Given the description of an element on the screen output the (x, y) to click on. 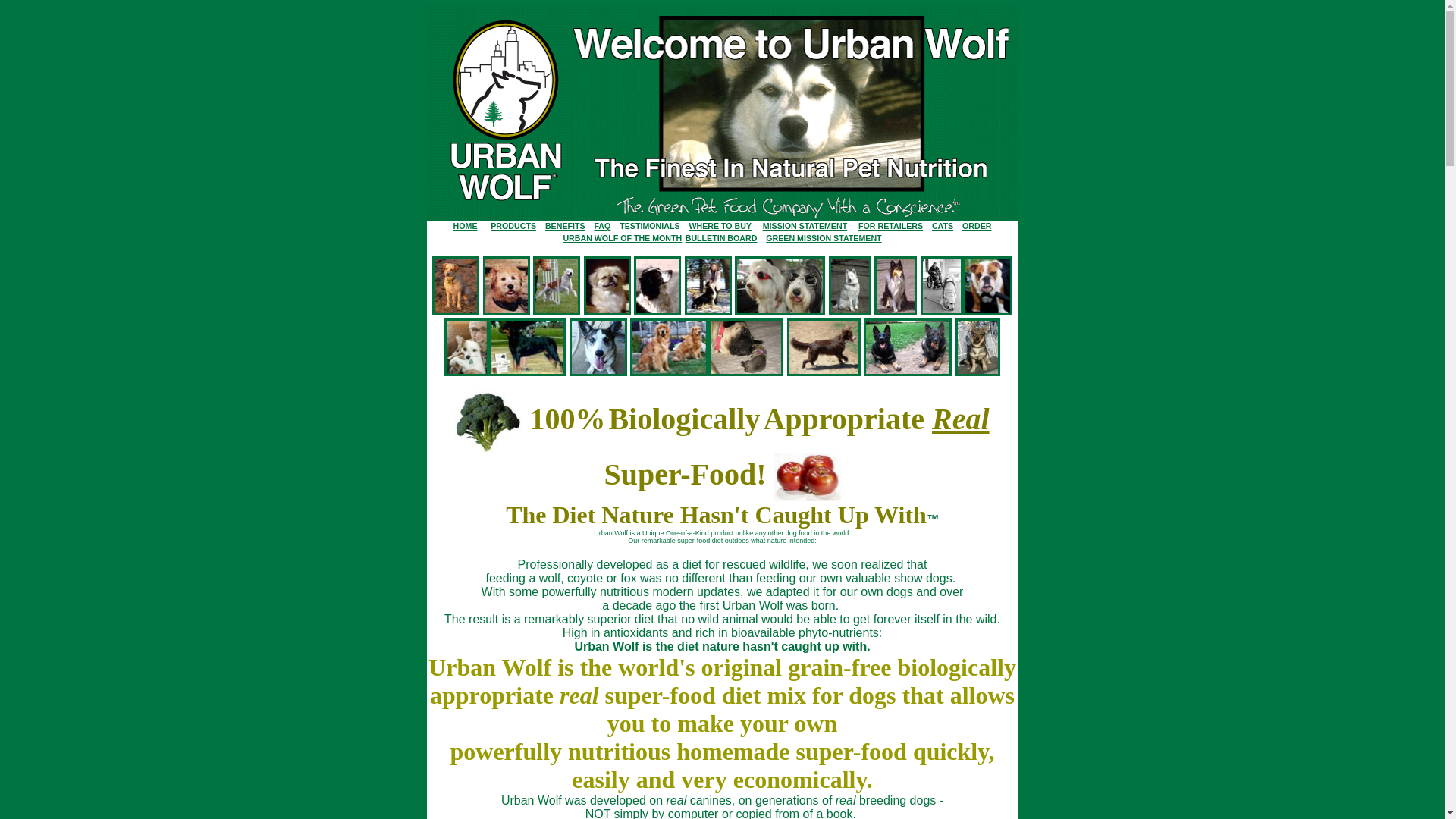
FAQ Element type: text (601, 225)
Red Apples -  Element type: hover (807, 474)
WHERE TO BUY Element type: text (719, 225)
BENEFITS Element type: text (565, 224)
ORDER Element type: text (976, 225)
BULLETIN BOARD Element type: text (721, 237)
MISSION STATEMENT Element type: text (804, 225)
FOR RETAILERS Element type: text (890, 225)
PRODUCTS Element type: text (513, 225)
CATS Element type: text (942, 225)
Broccoli -  Element type: hover (488, 418)
GREEN MISSION STATEMENT Element type: text (823, 237)
URBAN WOLF OF THE MONTH Element type: text (621, 237)
HOME Element type: text (465, 225)
